Given the description of an element on the screen output the (x, y) to click on. 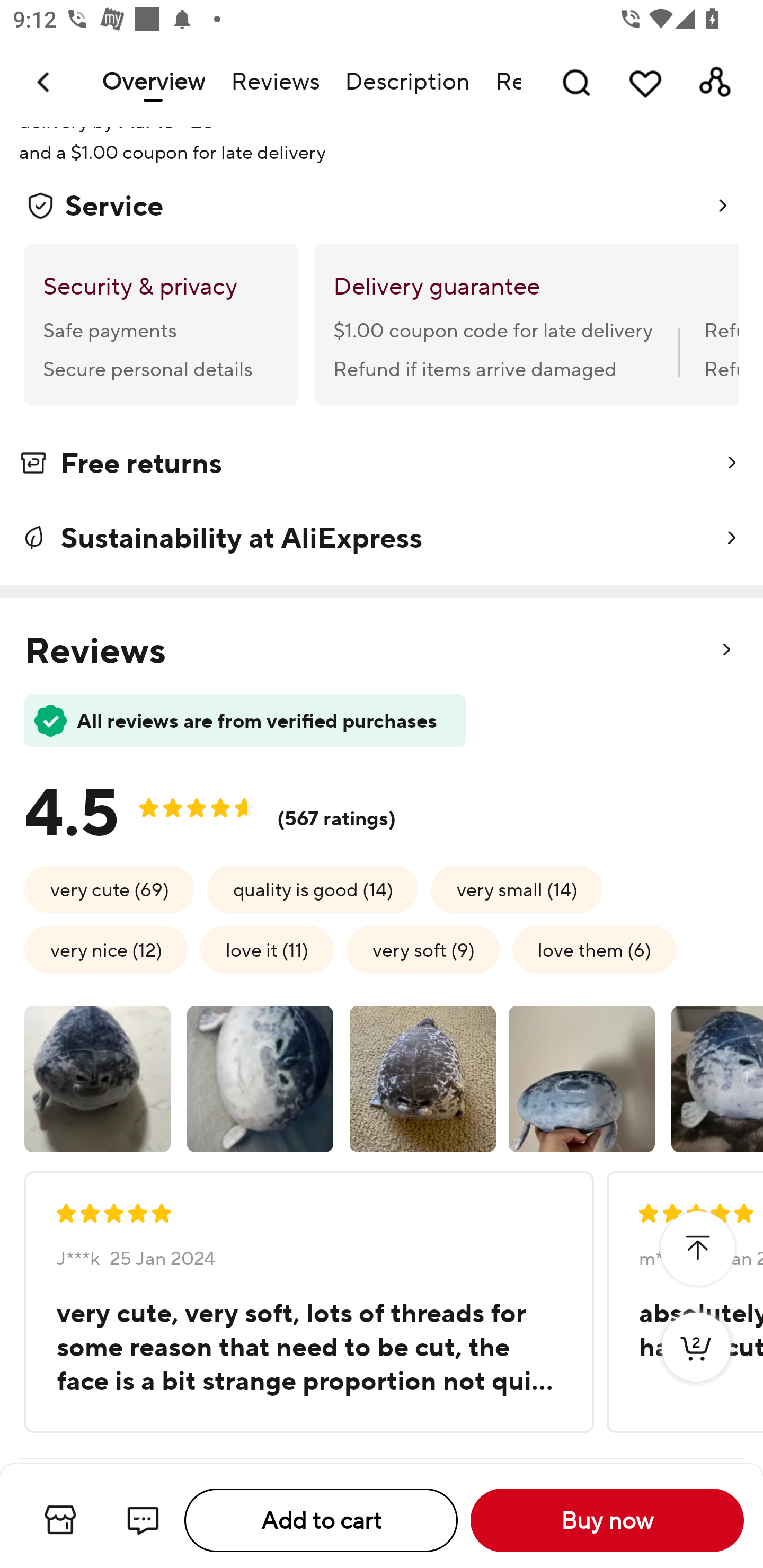
Navigate up (44, 82)
Reviews (274, 81)
Description (406, 81)
Free returns  (381, 466)
Sustainability at AliExpress  (381, 537)
4.5 45.0 (567 ratings) (224, 806)
very cute (69) (109, 888)
quality is good (14) (312, 888)
very small (14) (516, 888)
very nice (12) (105, 949)
love it (11) (266, 949)
very soft (9) (422, 949)
love them (6) (594, 949)
 (697, 1248)
2 (695, 1366)
Add to cart (320, 1520)
Buy now (606, 1520)
